Given the description of an element on the screen output the (x, y) to click on. 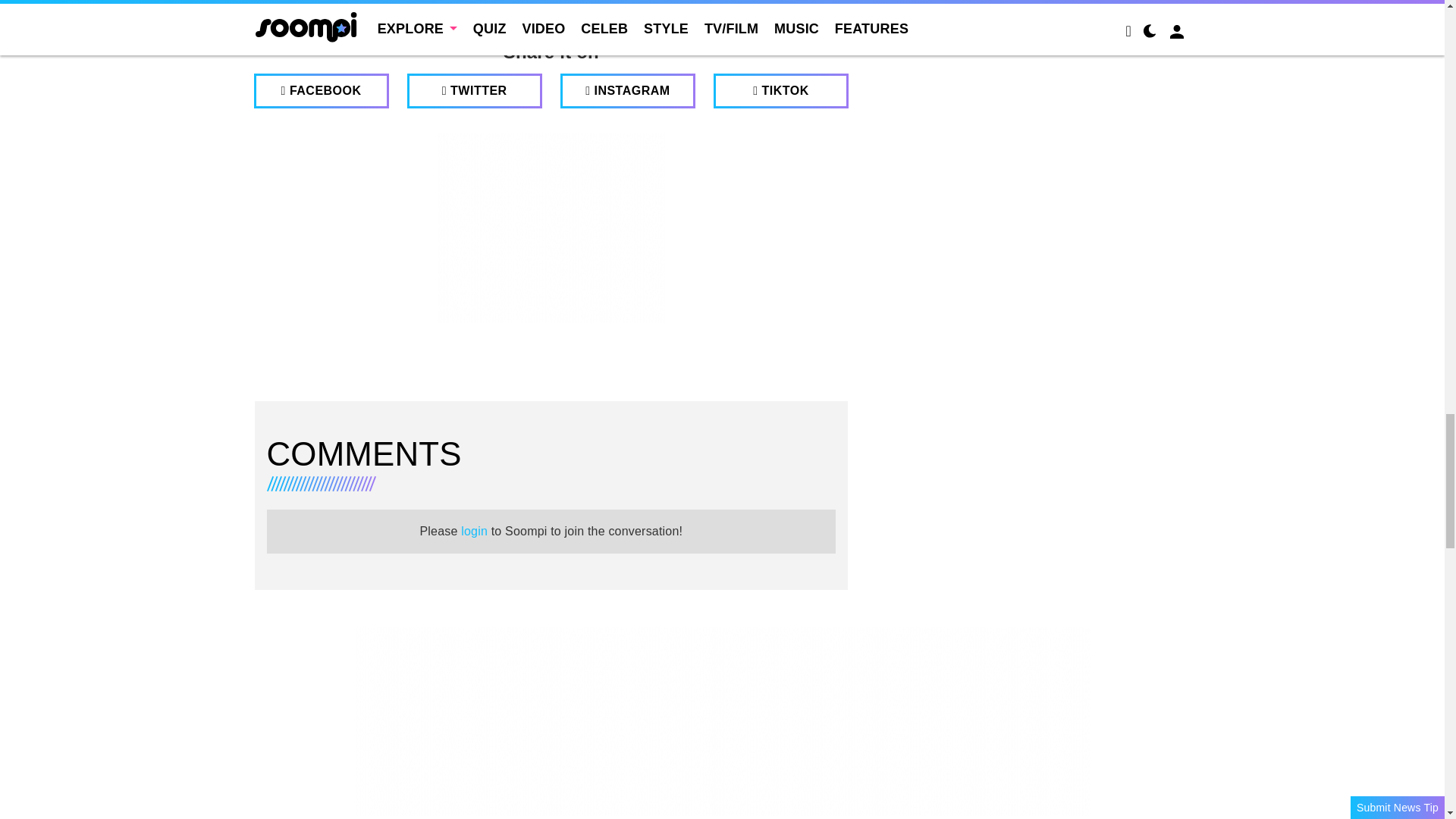
FACEBOOK (320, 90)
3rd party ad content (551, 227)
TWITTER (474, 90)
